Given the description of an element on the screen output the (x, y) to click on. 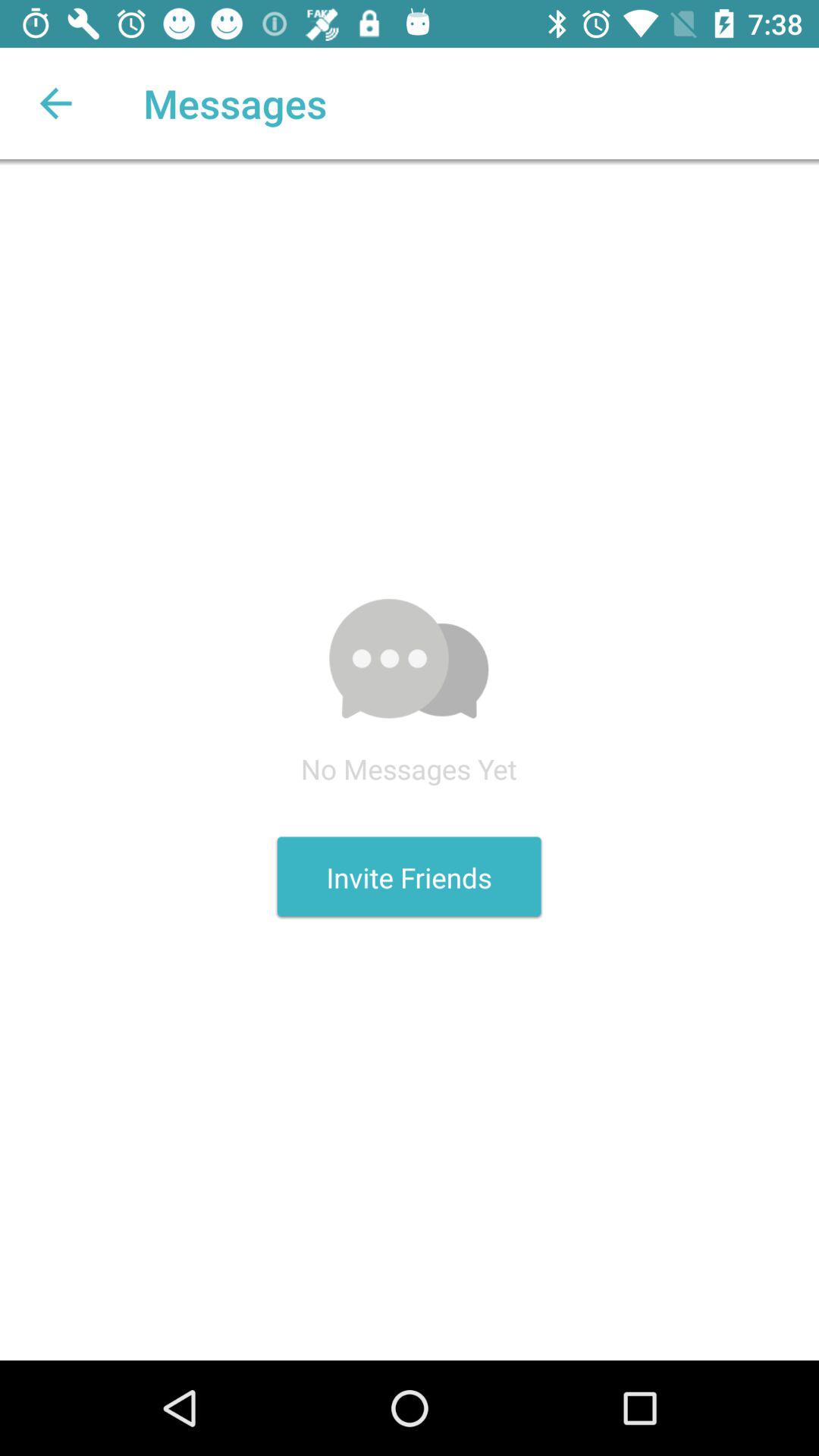
choose the item to the left of messages item (55, 103)
